Given the description of an element on the screen output the (x, y) to click on. 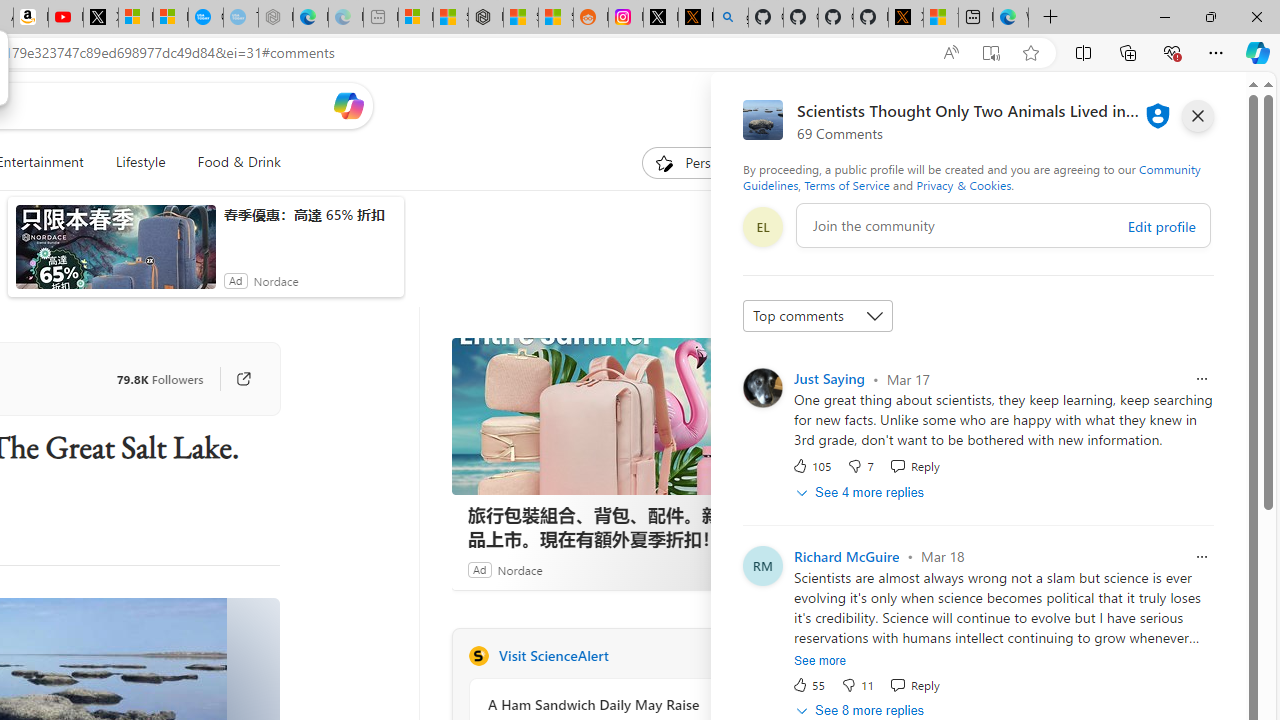
Sort comments by (817, 315)
Food & Drink (230, 162)
github - Search (730, 17)
Welcome to Microsoft Edge (1010, 17)
105 Like (811, 466)
Day 1: Arriving in Yemen (surreal to be here) - YouTube (65, 17)
Opinion: Op-Ed and Commentary - USA TODAY (205, 17)
Lifestyle (139, 162)
Enter Immersive Reader (F9) (991, 53)
The most popular Google 'how to' searches - Sleeping (241, 17)
X Privacy Policy (905, 17)
Reply Reply Comment (914, 683)
